Given the description of an element on the screen output the (x, y) to click on. 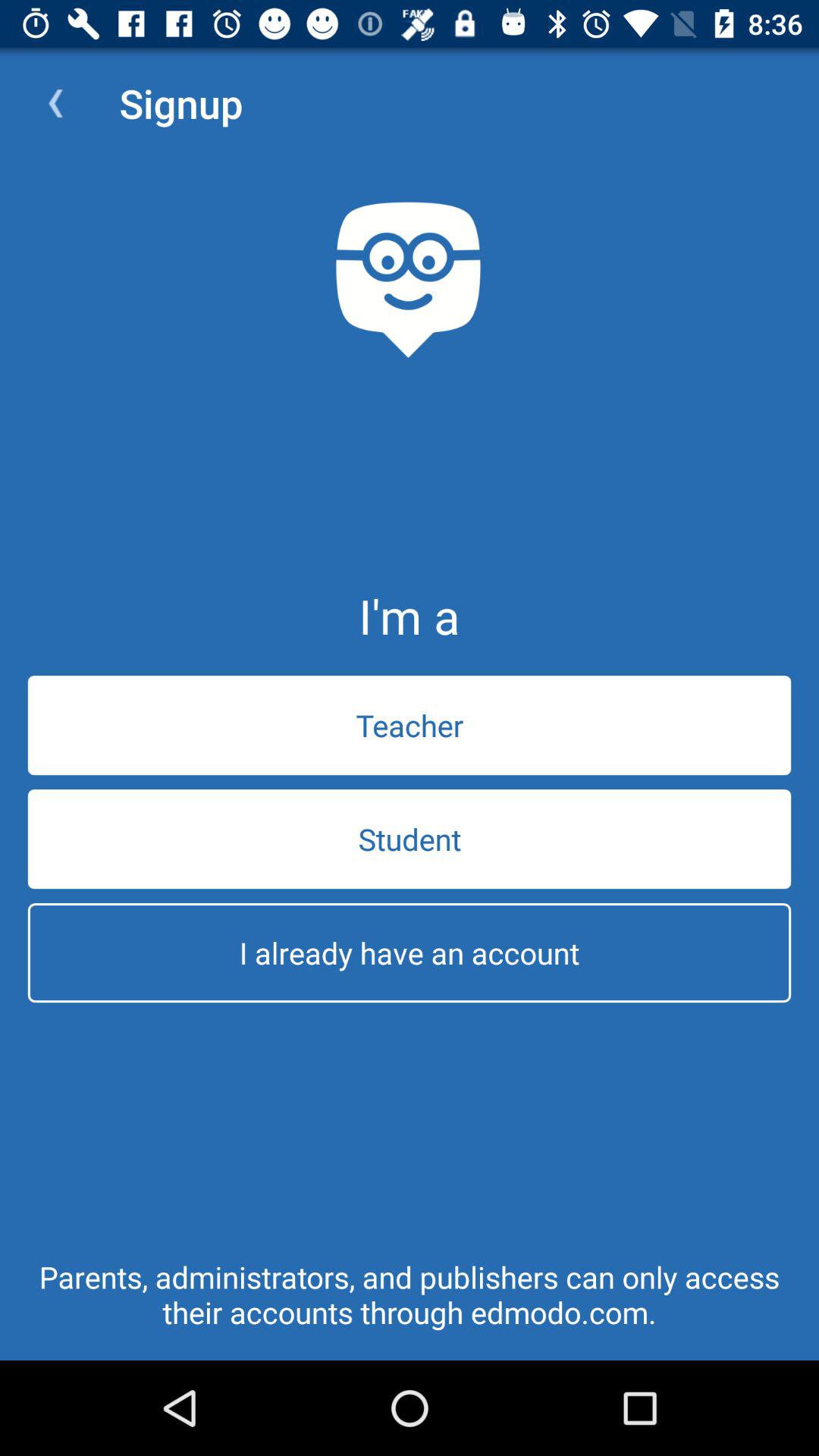
click the icon below teacher item (409, 838)
